Given the description of an element on the screen output the (x, y) to click on. 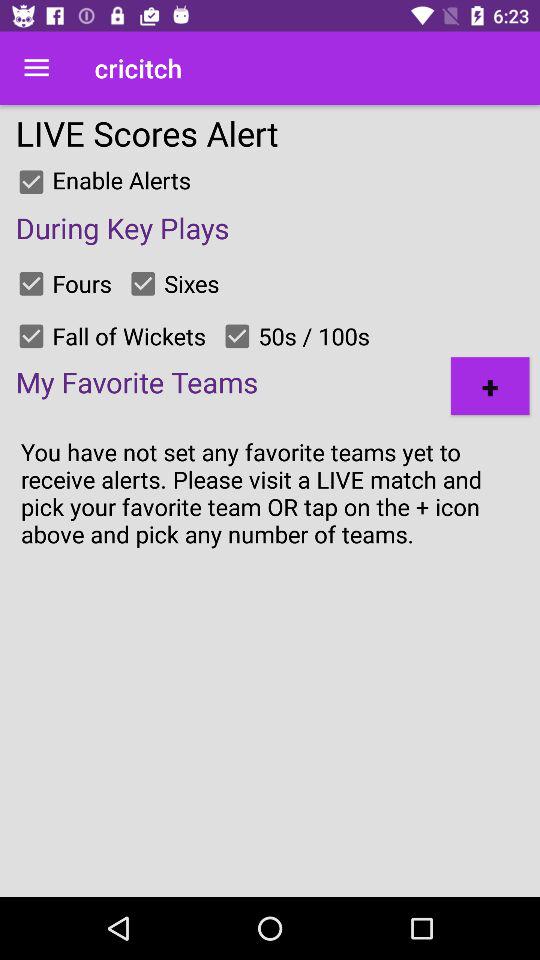
switch enable alerts (31, 182)
